Given the description of an element on the screen output the (x, y) to click on. 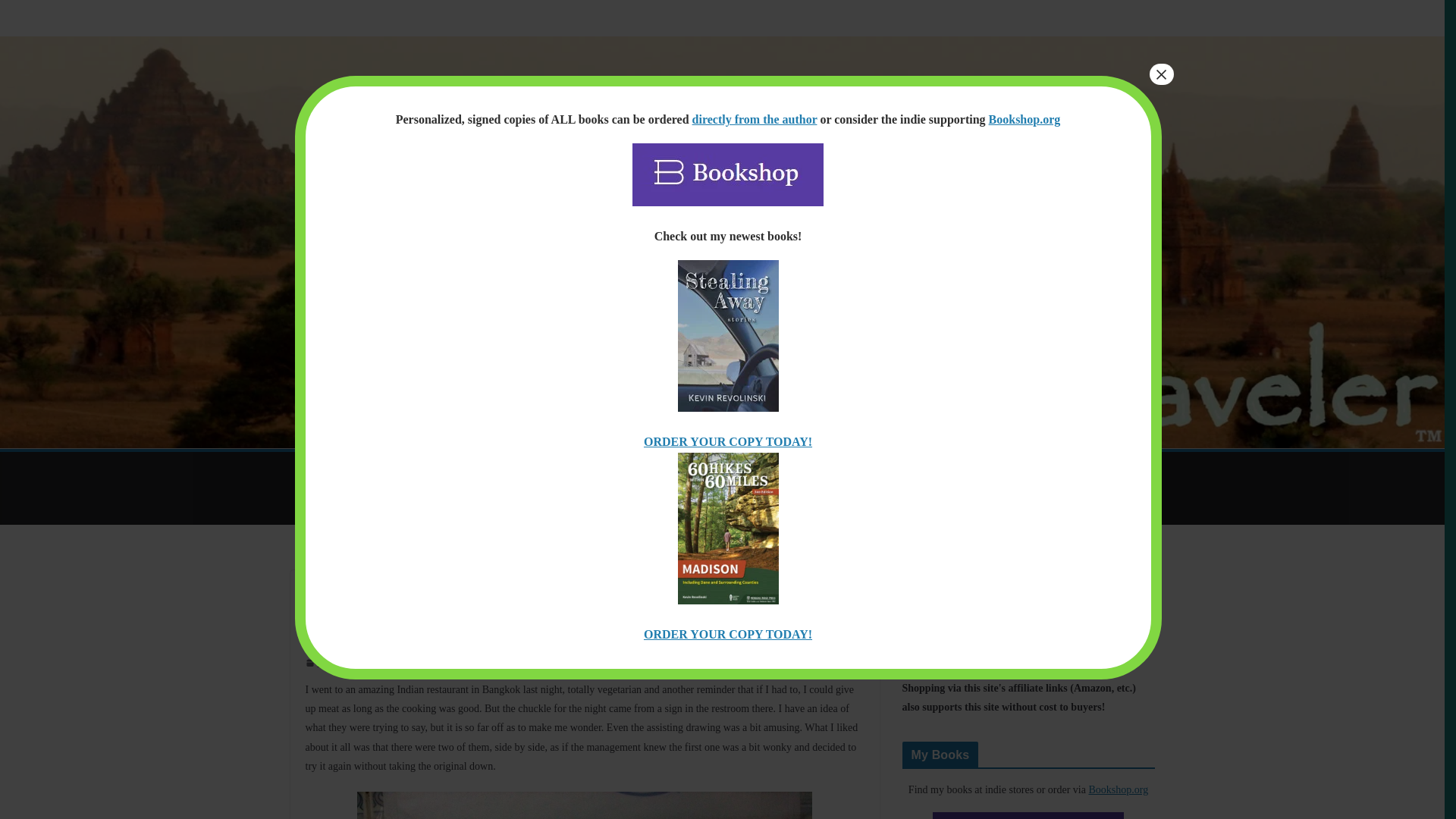
March 5, 2013 (336, 663)
VIDEOS (830, 469)
BLOG (453, 469)
TRIP PLANNER (532, 469)
ABOUT (988, 469)
EVENTS (679, 469)
CONTACT (1056, 469)
BEER (315, 506)
GALLERIES (756, 469)
ARTICLES (386, 469)
BOOKS (614, 469)
ASIA TRAVEL (334, 595)
TRAVEL TIPS (909, 469)
HOME (317, 469)
